Given the description of an element on the screen output the (x, y) to click on. 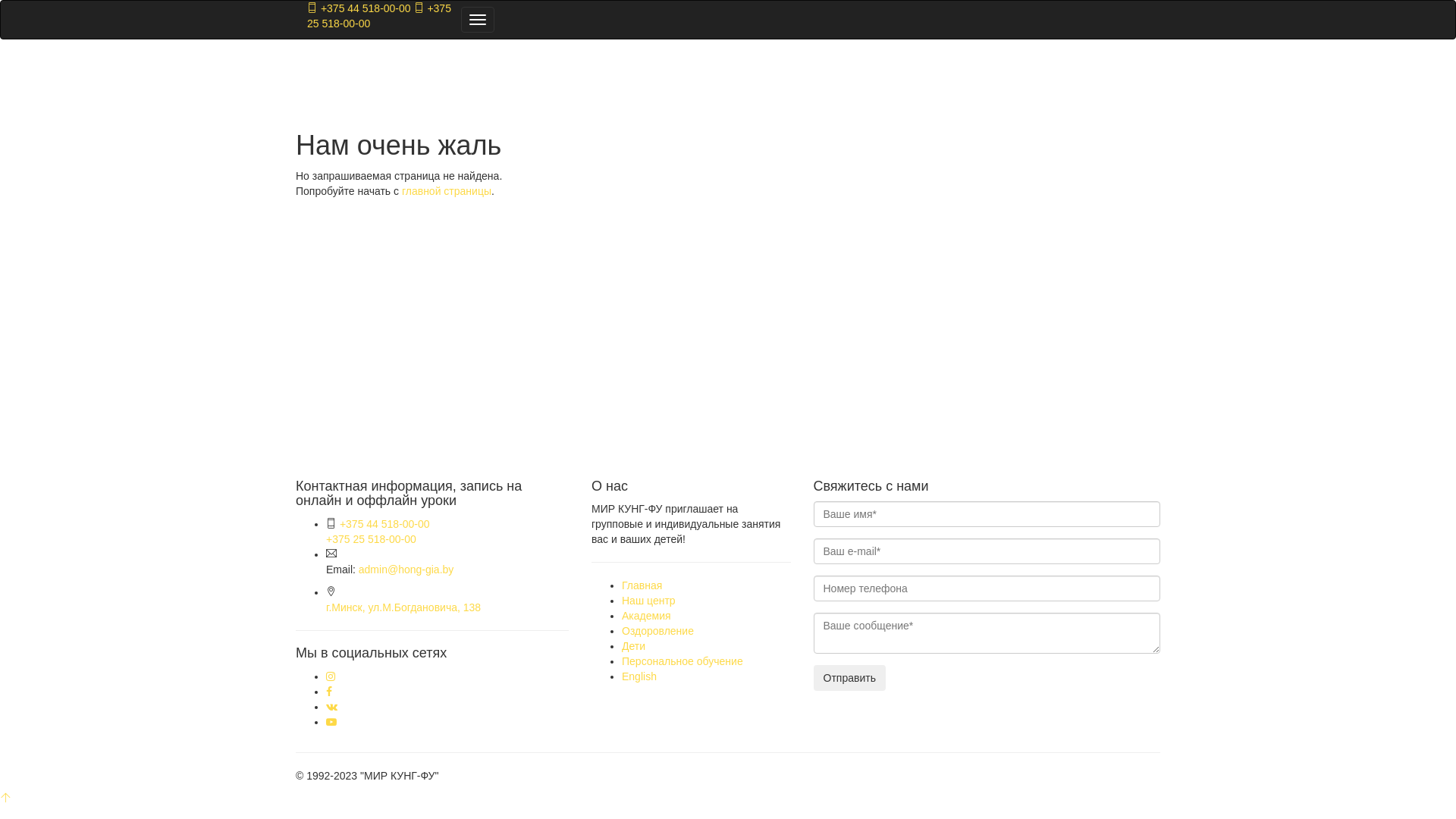
+375 44 518-00-00 Element type: text (384, 523)
English Element type: text (638, 676)
+375 25 518-00-00 Element type: text (371, 539)
admin@hong-gia.by Element type: text (406, 569)
+375 25 518-00-00 Element type: text (379, 15)
+375 44 518-00-00 Element type: text (359, 8)
